Given the description of an element on the screen output the (x, y) to click on. 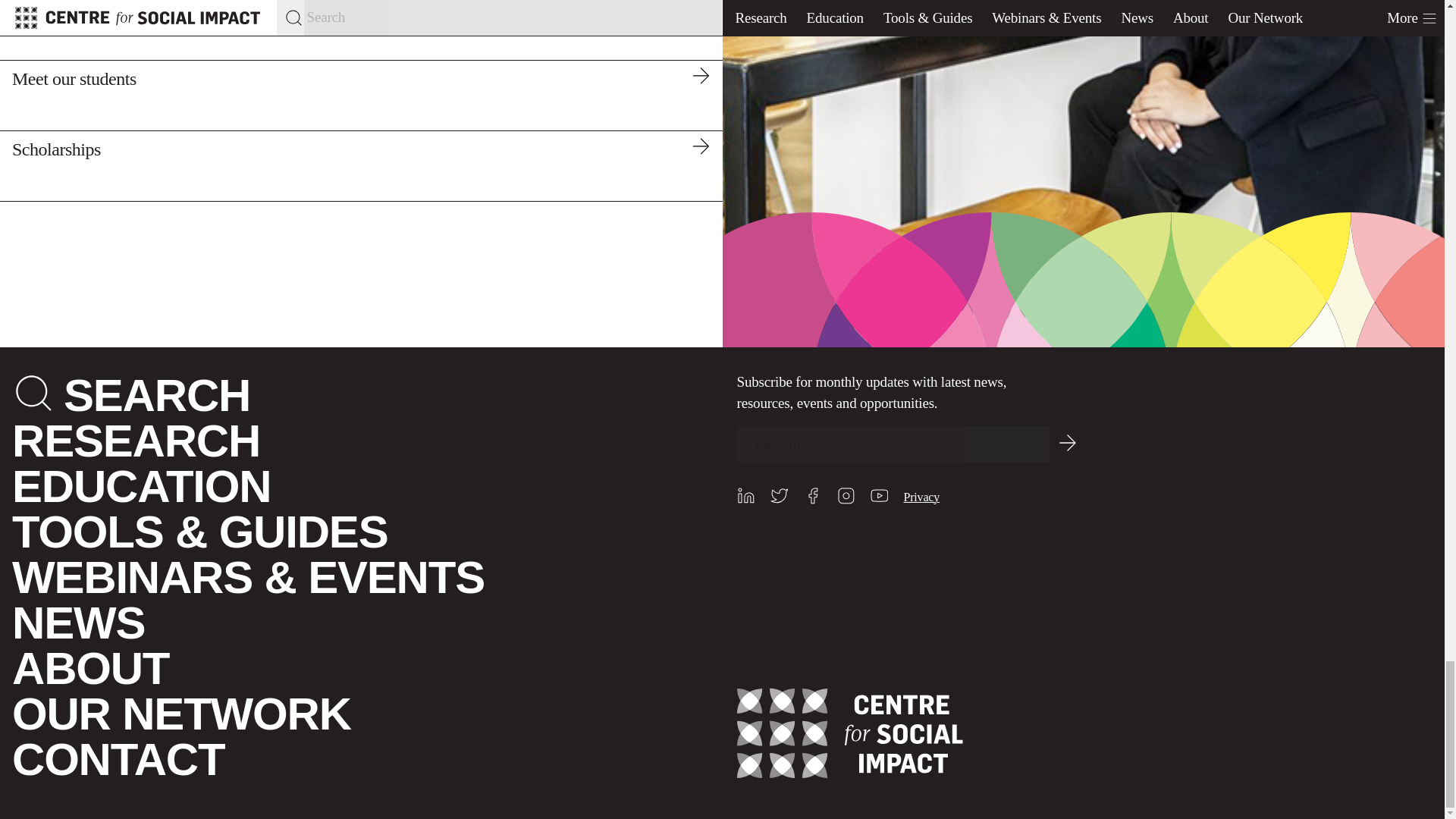
CONTACT (117, 758)
SEARCH (157, 395)
Swinburne University of Technology (361, 29)
NEWS (77, 622)
EDUCATION (140, 486)
Scholarships (361, 165)
OUR NETWORK (180, 713)
ABOUT (89, 667)
RESEARCH (135, 440)
Meet our students (361, 94)
